Given the description of an element on the screen output the (x, y) to click on. 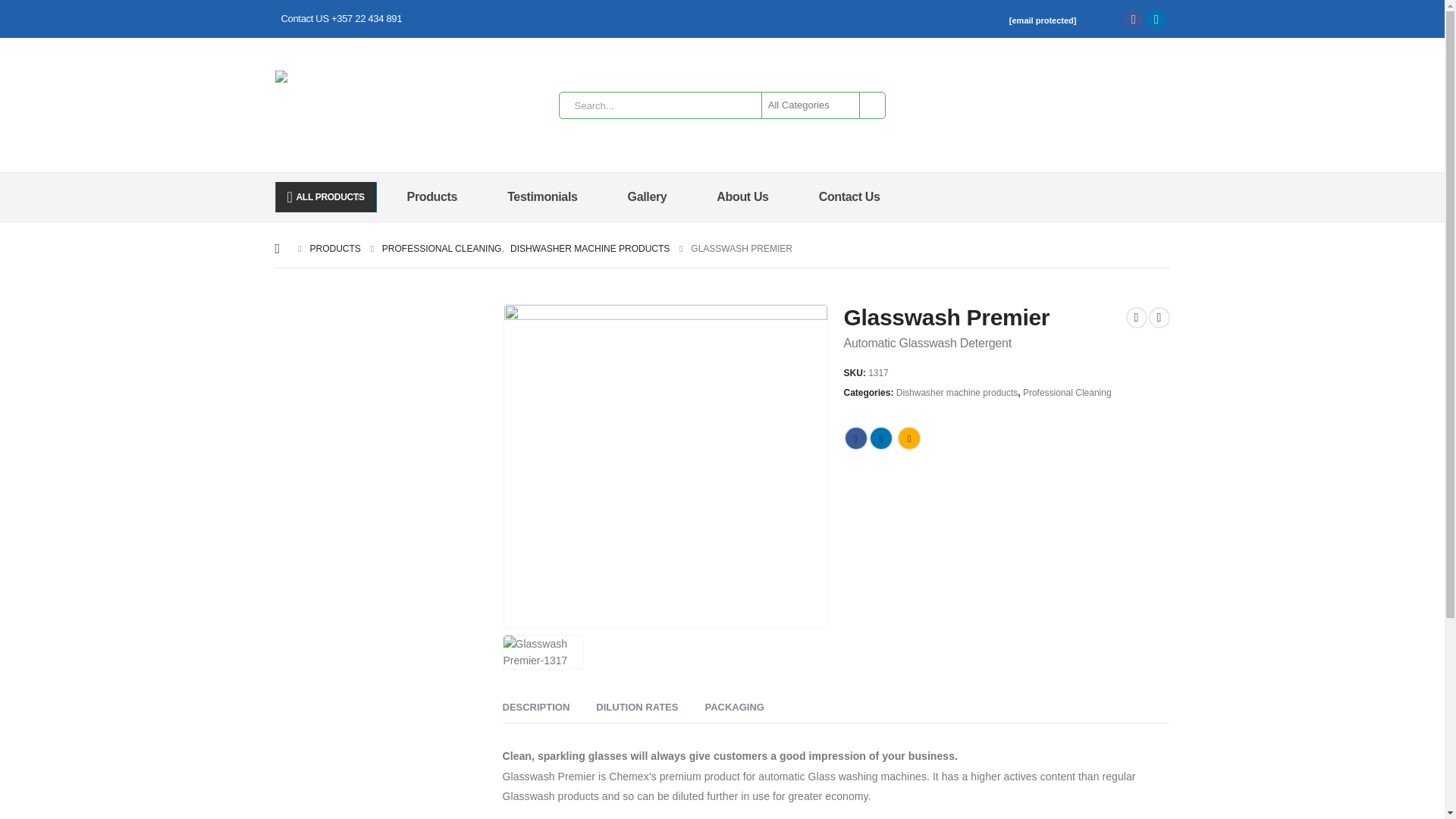
Facebook (1133, 18)
Products (437, 196)
Search (871, 104)
LinkedIn (881, 437)
Facebook (855, 437)
LinkedIn (1156, 18)
ChemClean Supplies LTD -  (383, 109)
Email (908, 437)
Glasswash Premier-1317 (665, 466)
